Given the description of an element on the screen output the (x, y) to click on. 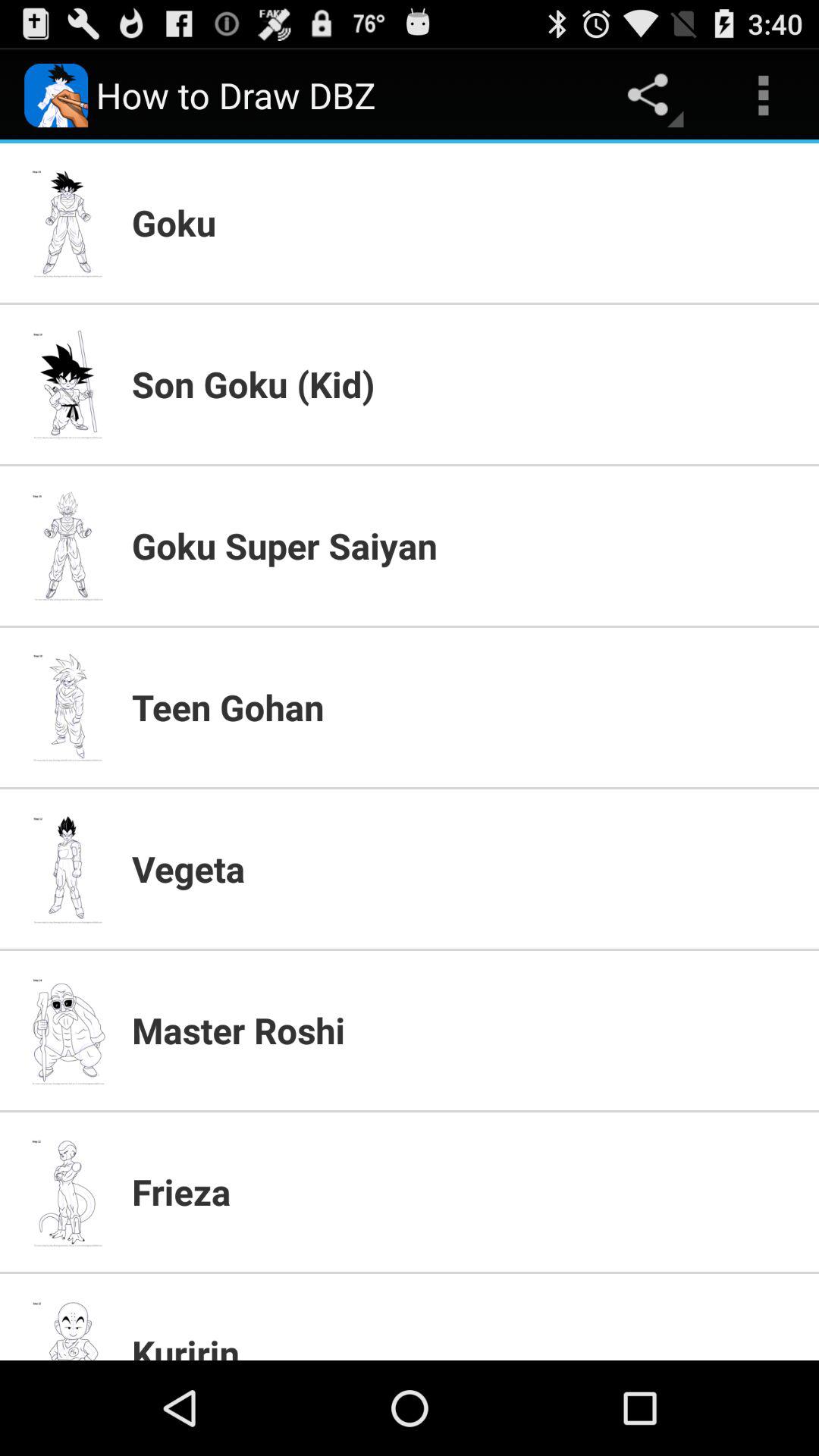
choose the vegeta icon (465, 868)
